Given the description of an element on the screen output the (x, y) to click on. 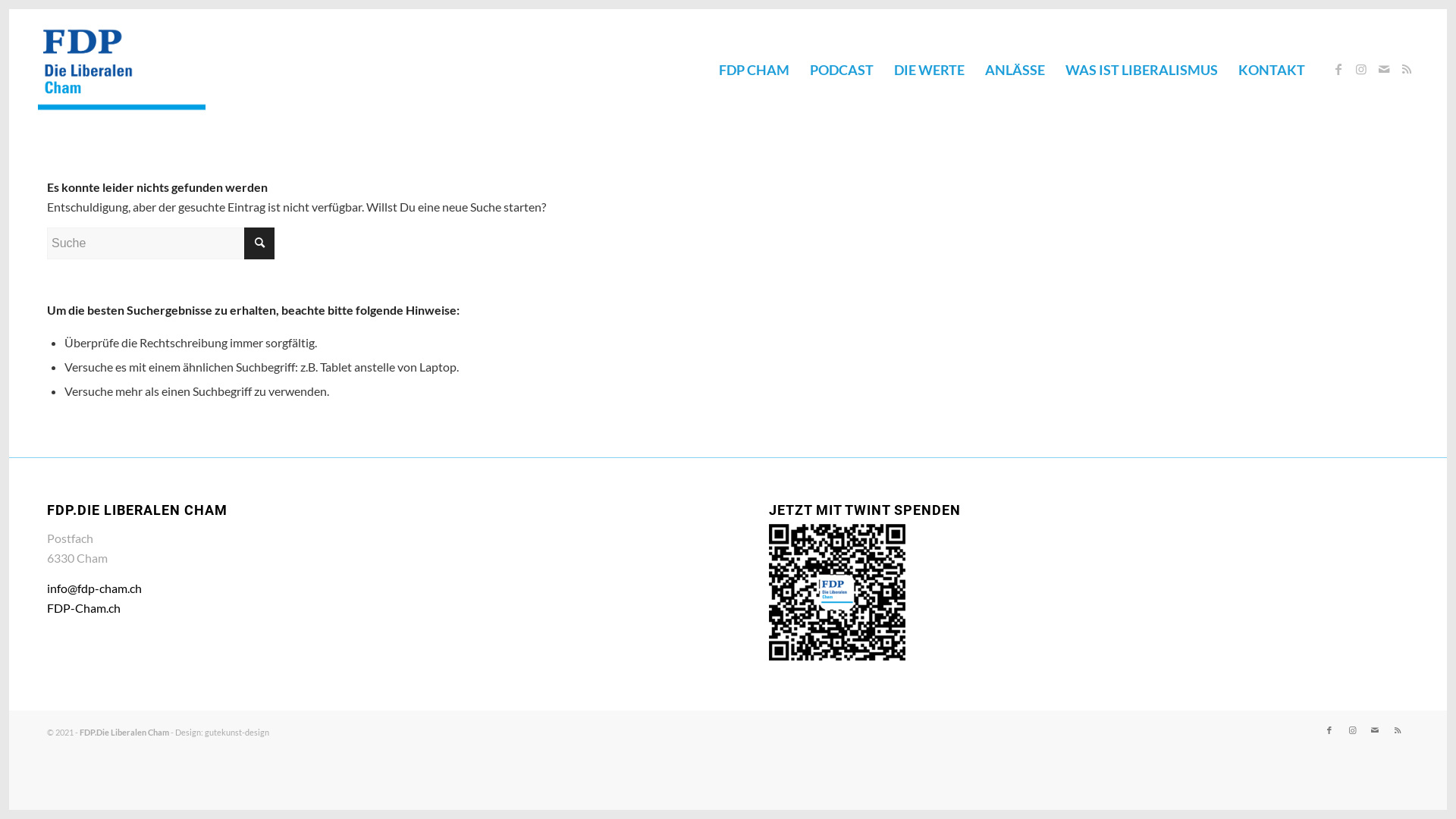
FDP_Logo Element type: hover (121, 69)
Rss Element type: hover (1397, 729)
DIE WERTE Element type: text (928, 69)
FDP-Cham.ch Element type: text (83, 607)
Rss Element type: hover (1406, 68)
Instagram Element type: hover (1360, 68)
Design: gutekunst-design Element type: text (222, 732)
Mail Element type: hover (1374, 729)
Instagram Element type: hover (1351, 729)
PODCAST Element type: text (841, 69)
Facebook Element type: hover (1338, 68)
info@fdp-cham.ch Element type: text (94, 587)
Facebook Element type: hover (1328, 729)
WAS IST LIBERALISMUS Element type: text (1140, 69)
Jetzt mit TWINT spenden Element type: hover (836, 592)
KONTAKT Element type: text (1270, 69)
Mail Element type: hover (1383, 68)
FDP CHAM Element type: text (753, 69)
